Given the description of an element on the screen output the (x, y) to click on. 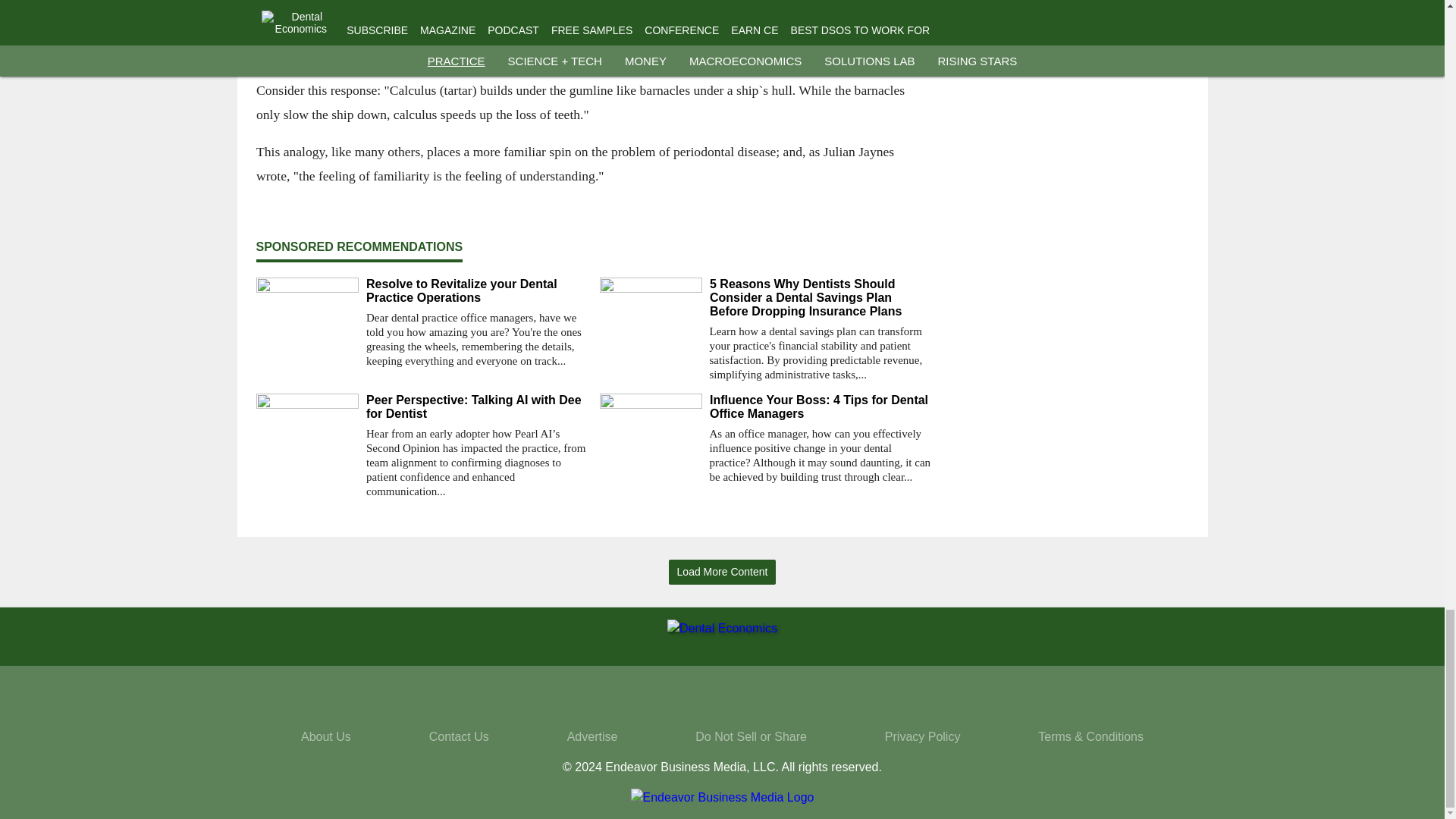
Resolve to Revitalize your Dental Practice Operations (476, 290)
Peer Perspective: Talking AI with Dee for Dentist (476, 406)
Influence Your Boss: 4 Tips for Dental Office Managers (820, 406)
